Given the description of an element on the screen output the (x, y) to click on. 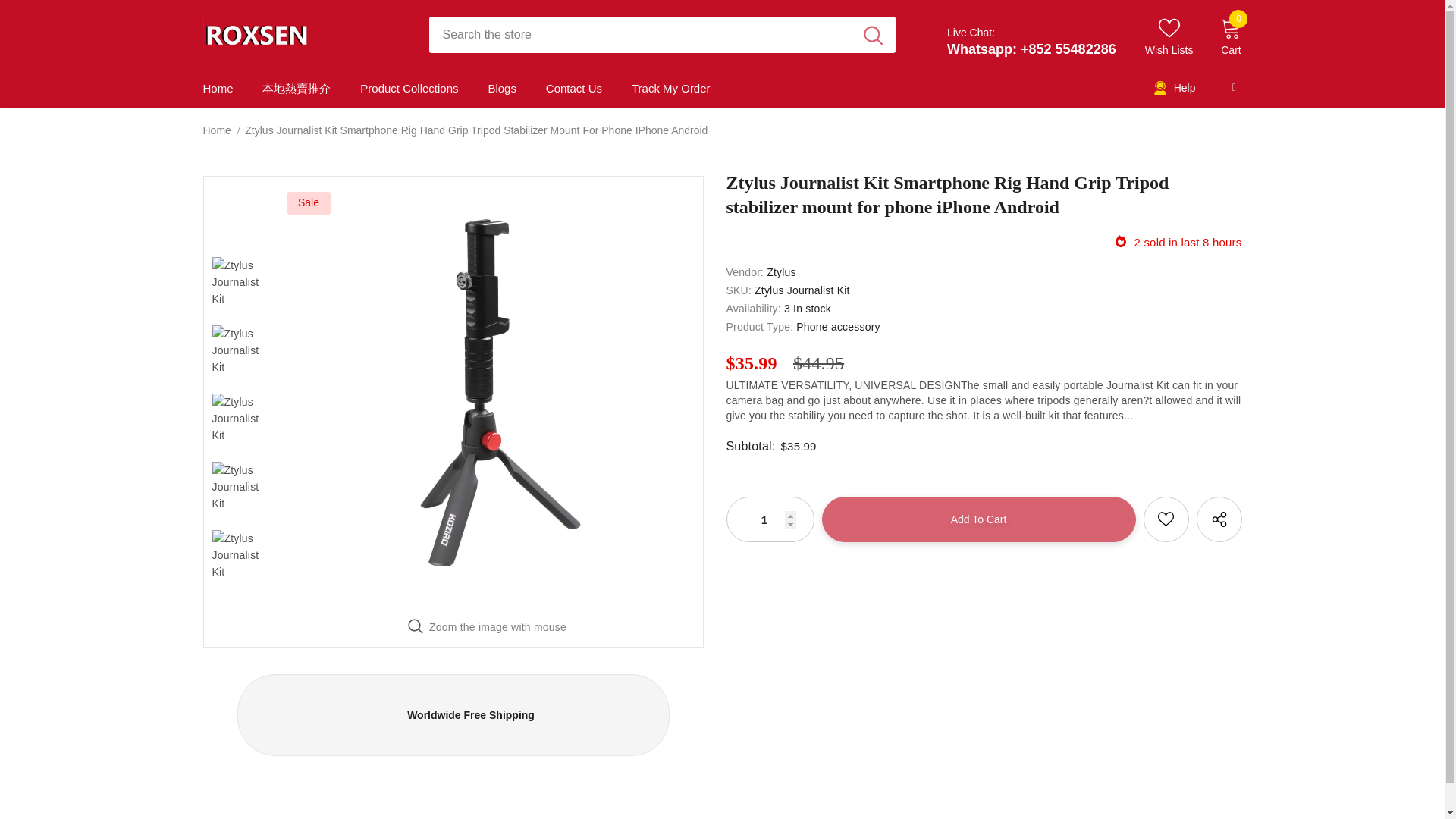
Help (1174, 89)
Wish Lists (1168, 36)
Logo (304, 33)
1 (769, 519)
Track My Order (670, 88)
Product Collections (408, 88)
Home (217, 130)
Contact Us (574, 88)
Add to cart (978, 519)
